Given the description of an element on the screen output the (x, y) to click on. 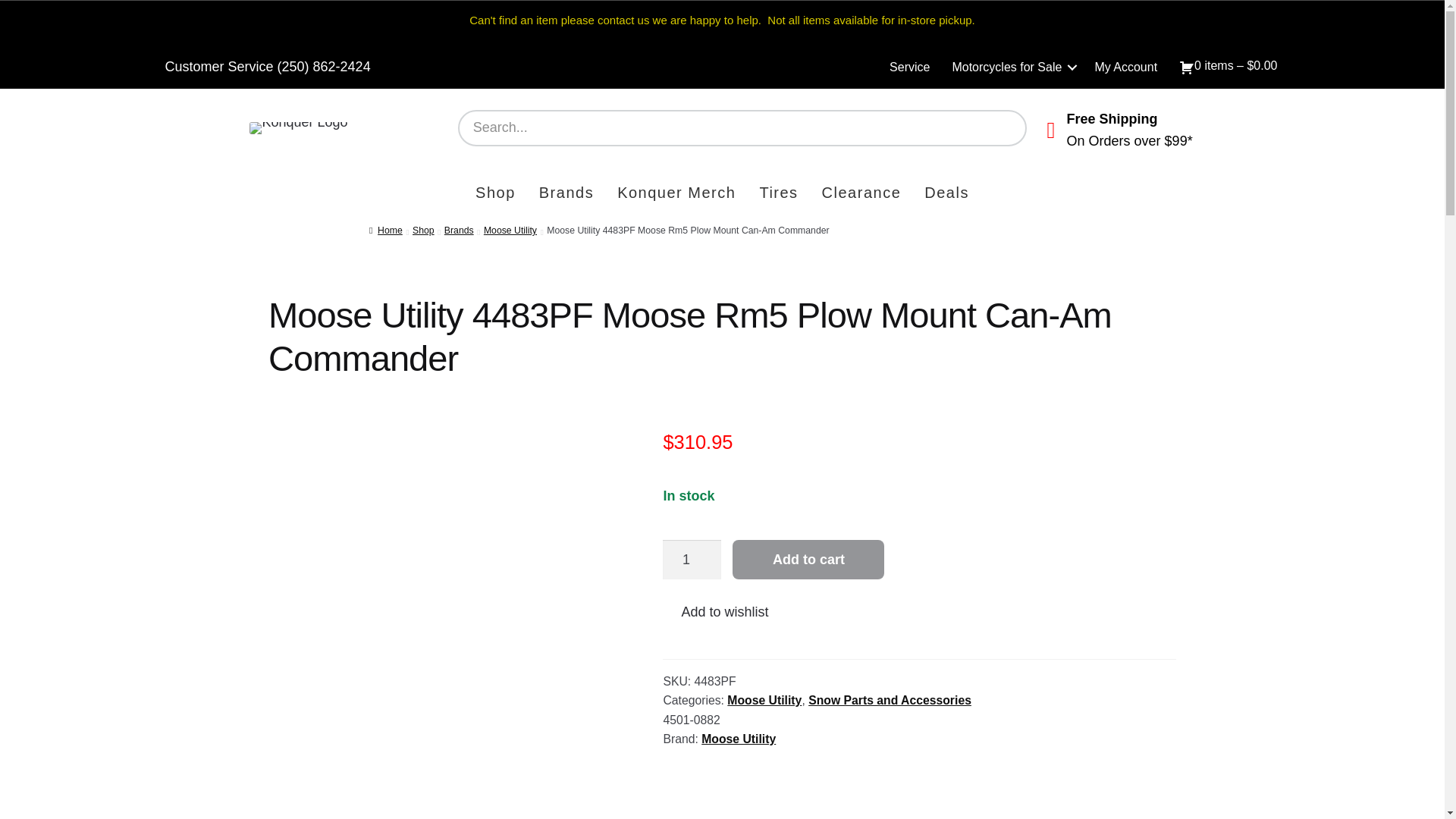
Deals (945, 194)
Start shopping (1228, 66)
Motorcycles for Sale (1011, 66)
1 (691, 558)
Moose Utility (510, 230)
Service (909, 66)
Customer Service (219, 66)
Add to cart (807, 558)
Konquer Logo (297, 128)
Shop (422, 230)
